Given the description of an element on the screen output the (x, y) to click on. 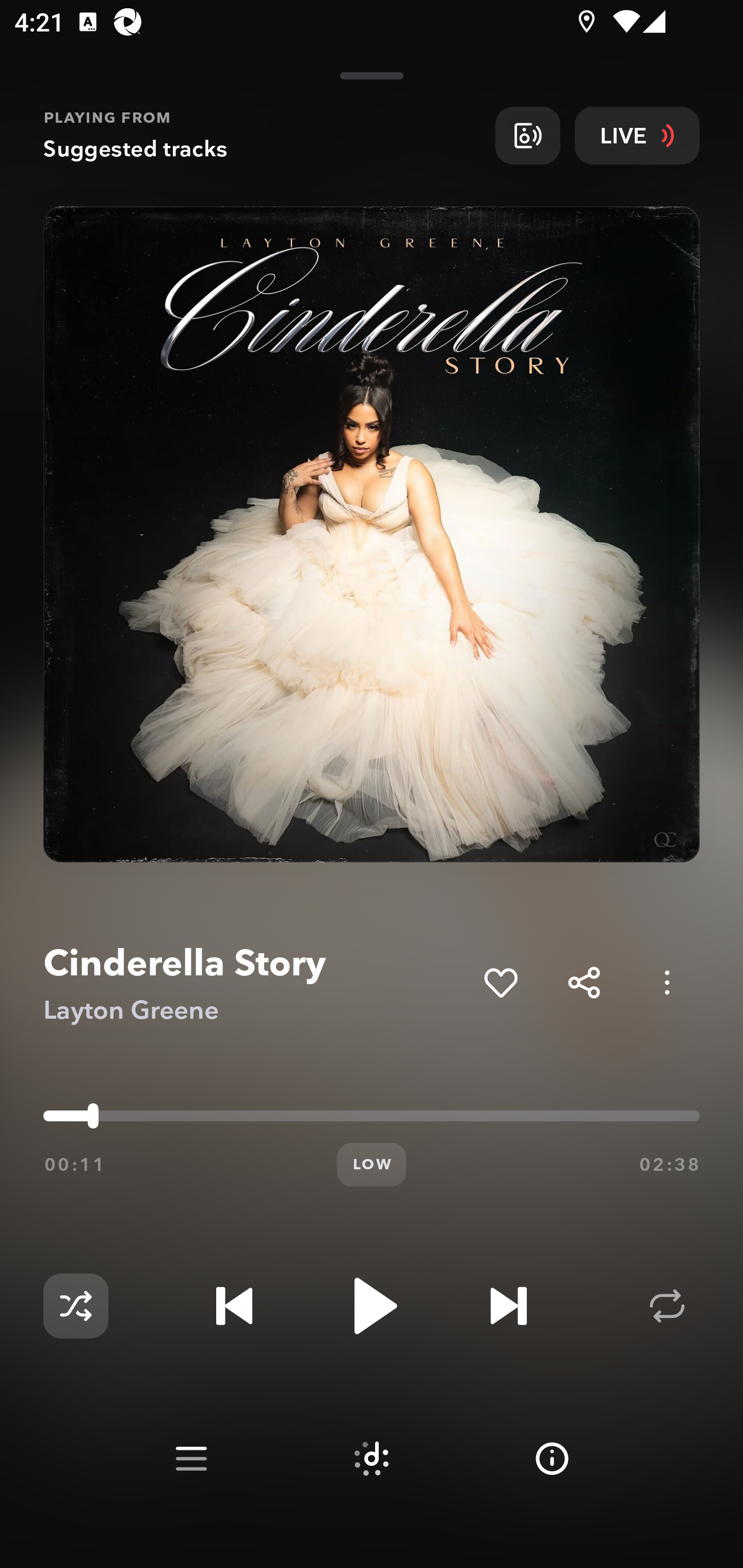
Broadcast (527, 135)
LIVE (637, 135)
PLAYING FROM Suggested tracks (261, 135)
Cinderella Story Layton Greene (255, 983)
Add to My Collection (500, 982)
Share (583, 982)
Options (666, 982)
LOW (371, 1164)
Play (371, 1306)
Previous (234, 1306)
Next (508, 1306)
Shuffle enabled (75, 1306)
Repeat Off (666, 1306)
Play queue (191, 1458)
Suggested tracks (371, 1458)
Info (551, 1458)
